Given the description of an element on the screen output the (x, y) to click on. 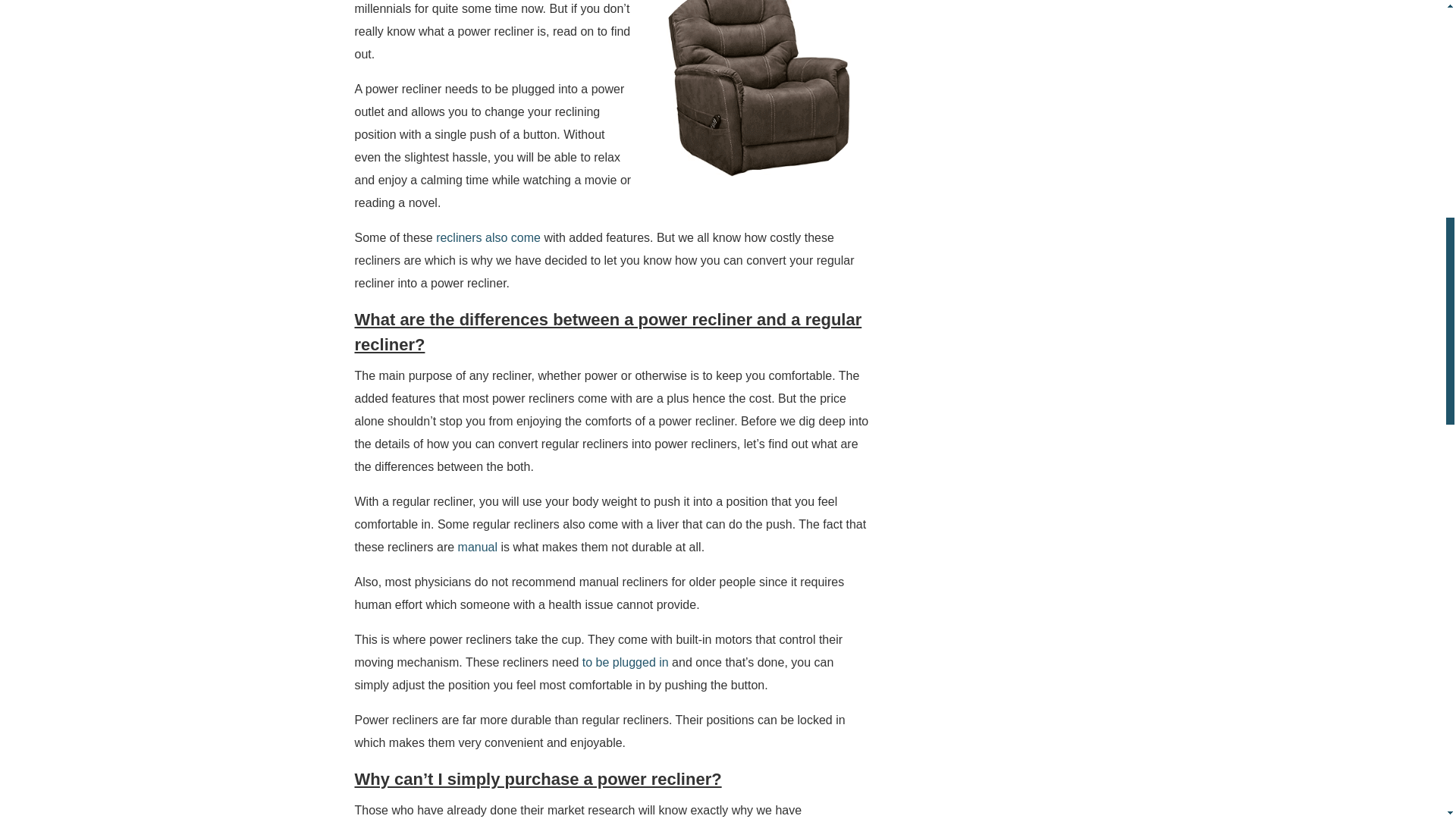
recliners also come (487, 237)
to be plugged in (625, 662)
manual (477, 546)
